Given the description of an element on the screen output the (x, y) to click on. 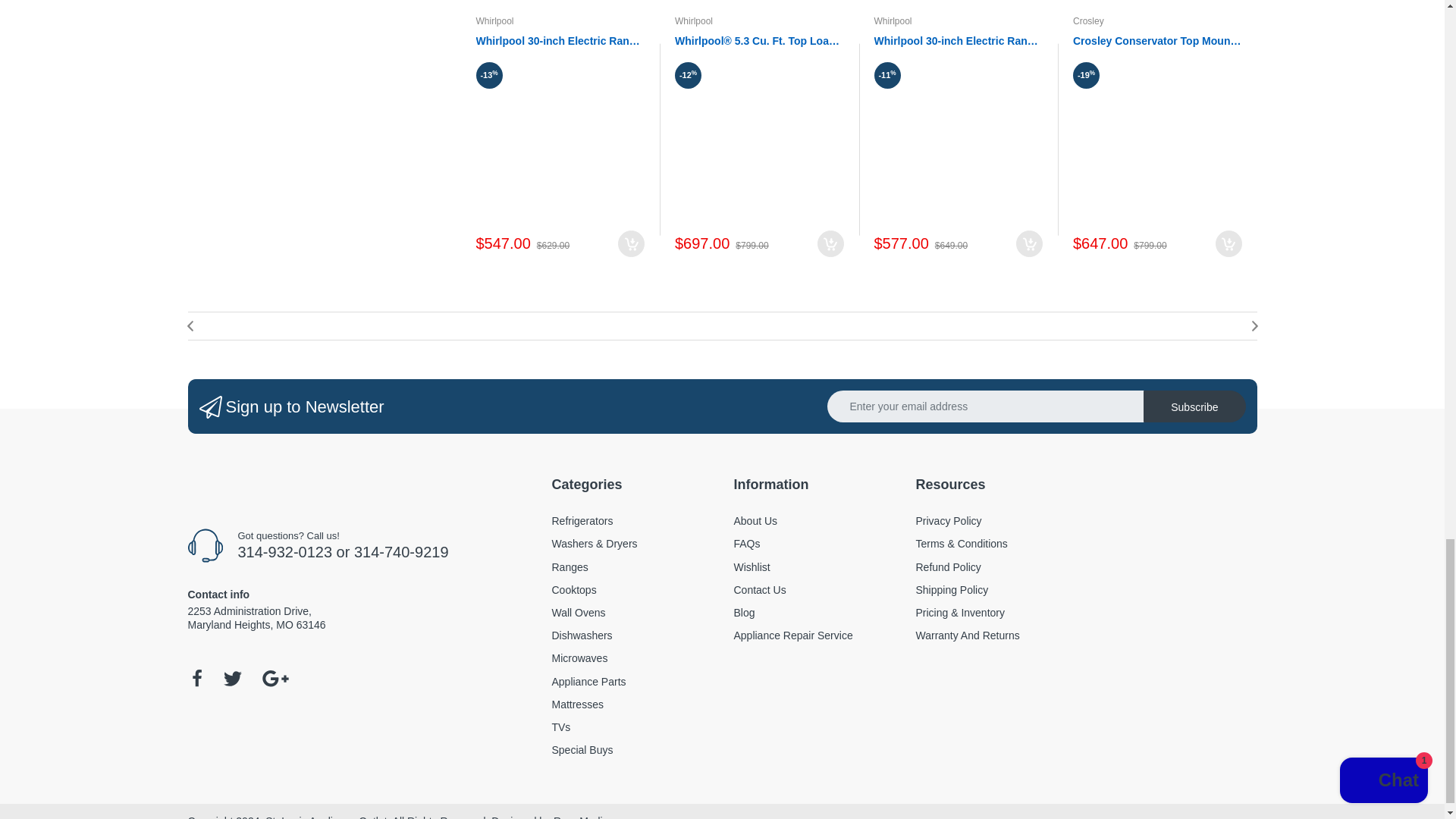
Add to cart (830, 243)
Crosley (1088, 20)
Whirlpool (494, 20)
Whirlpool (694, 20)
Add to cart (631, 243)
Whirlpool (892, 20)
Add to cart (1029, 243)
